Given the description of an element on the screen output the (x, y) to click on. 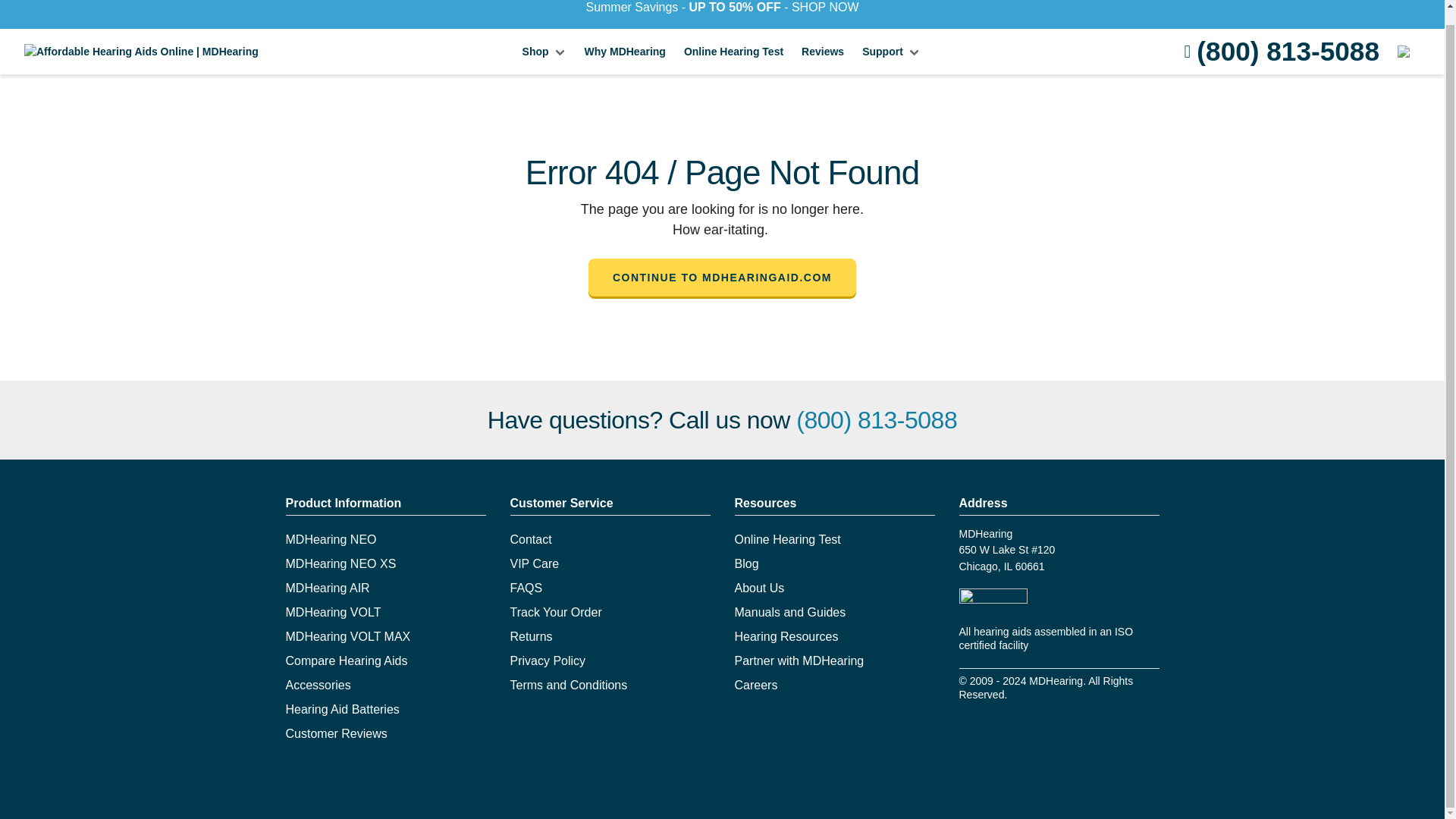
Customer Reviews (336, 733)
Compare Hearing Aids (346, 660)
MDHearing NEO XS (340, 563)
Reviews (822, 51)
VIP Care (534, 563)
Track Your Order (555, 612)
MDHearing VOLT (332, 612)
Returns (530, 635)
MDHearing VOLT MAX (347, 635)
MDHearing AIR (327, 587)
Why MDHearing (625, 51)
Online Hearing Test (733, 51)
Hearing Aid Batteries (341, 708)
MDHearing NEO (330, 539)
Shop (544, 51)
